Given the description of an element on the screen output the (x, y) to click on. 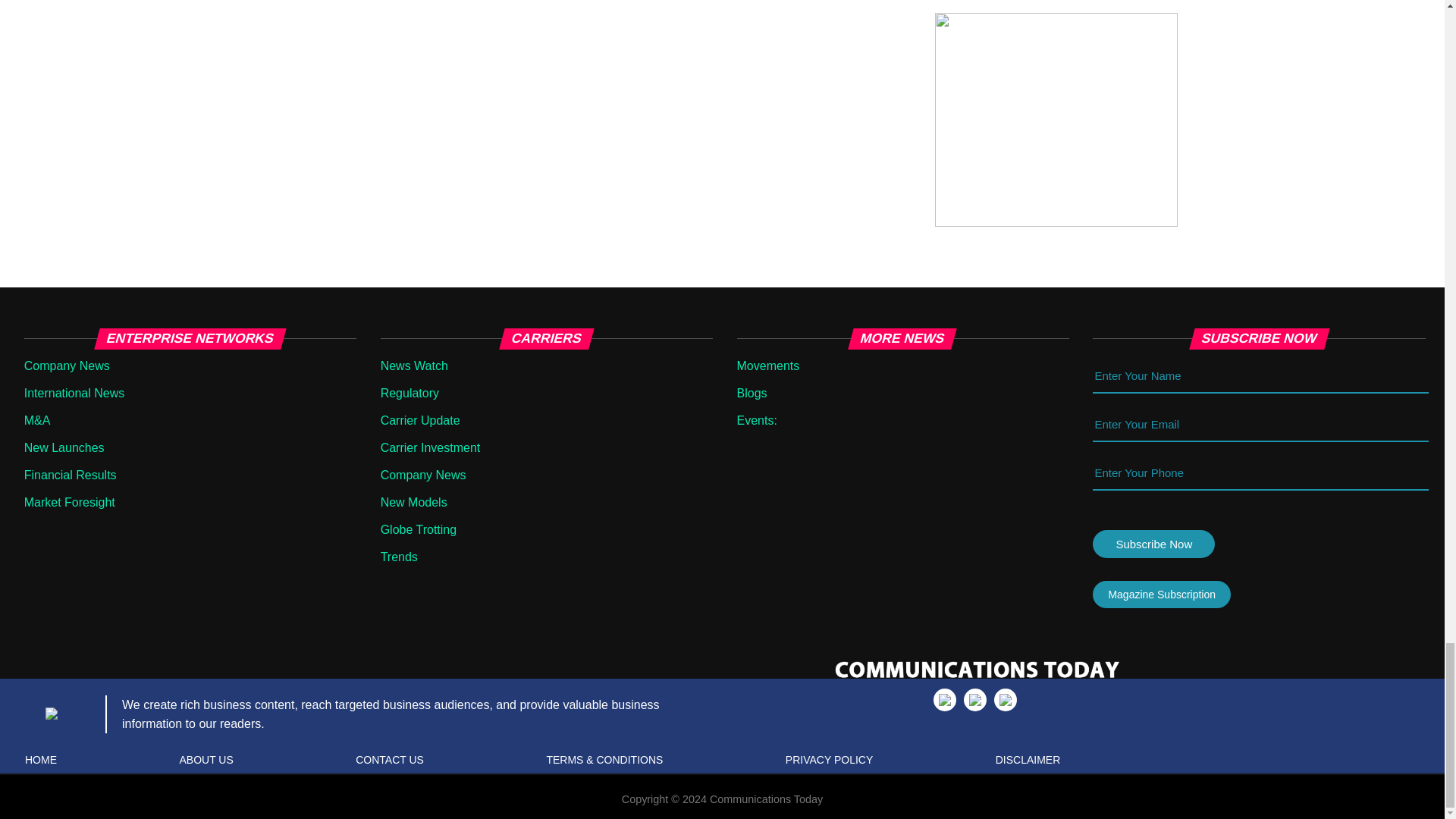
Subscribe Now (1153, 543)
